Given the description of an element on the screen output the (x, y) to click on. 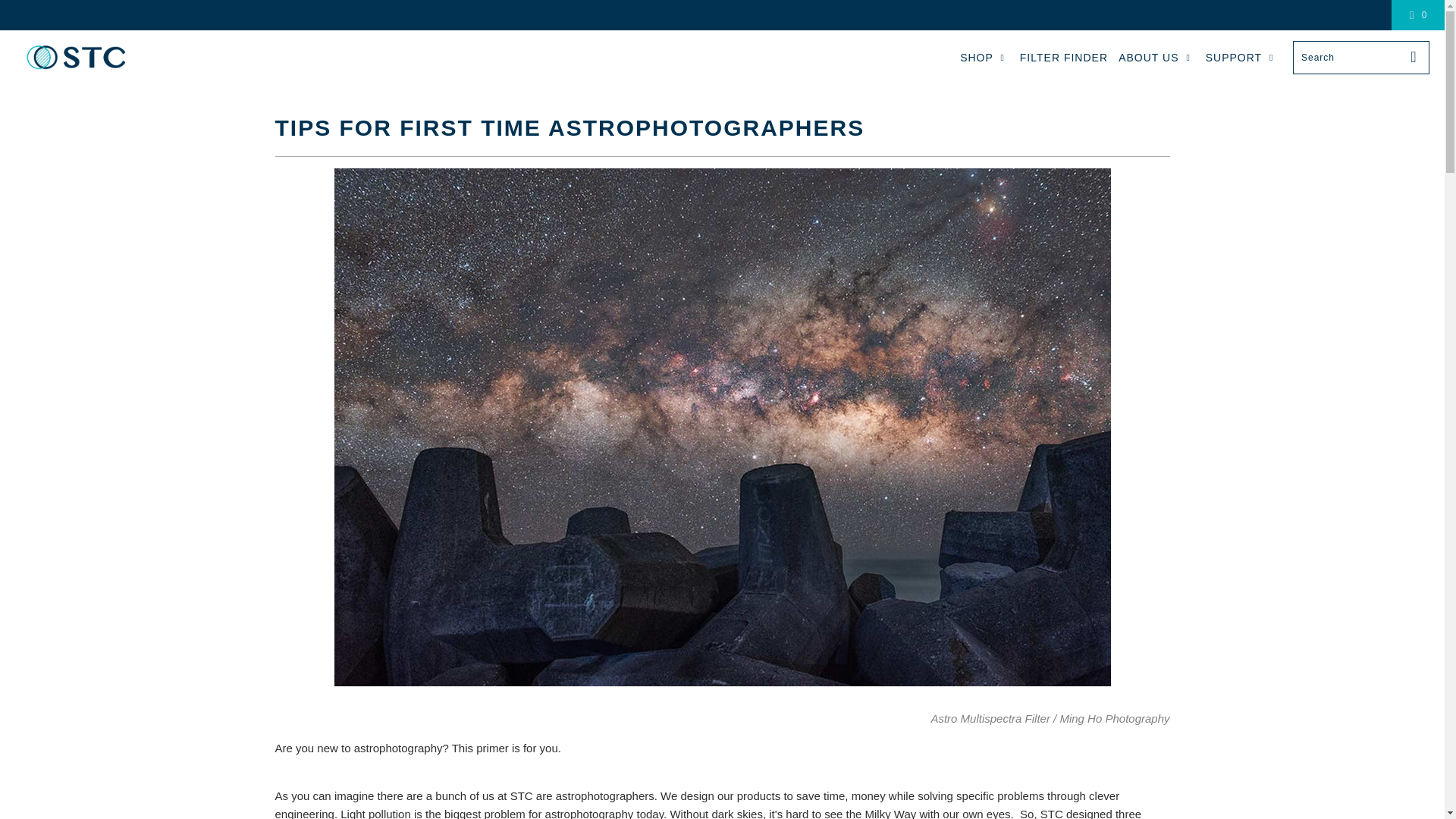
STC Optics (75, 56)
